Given the description of an element on the screen output the (x, y) to click on. 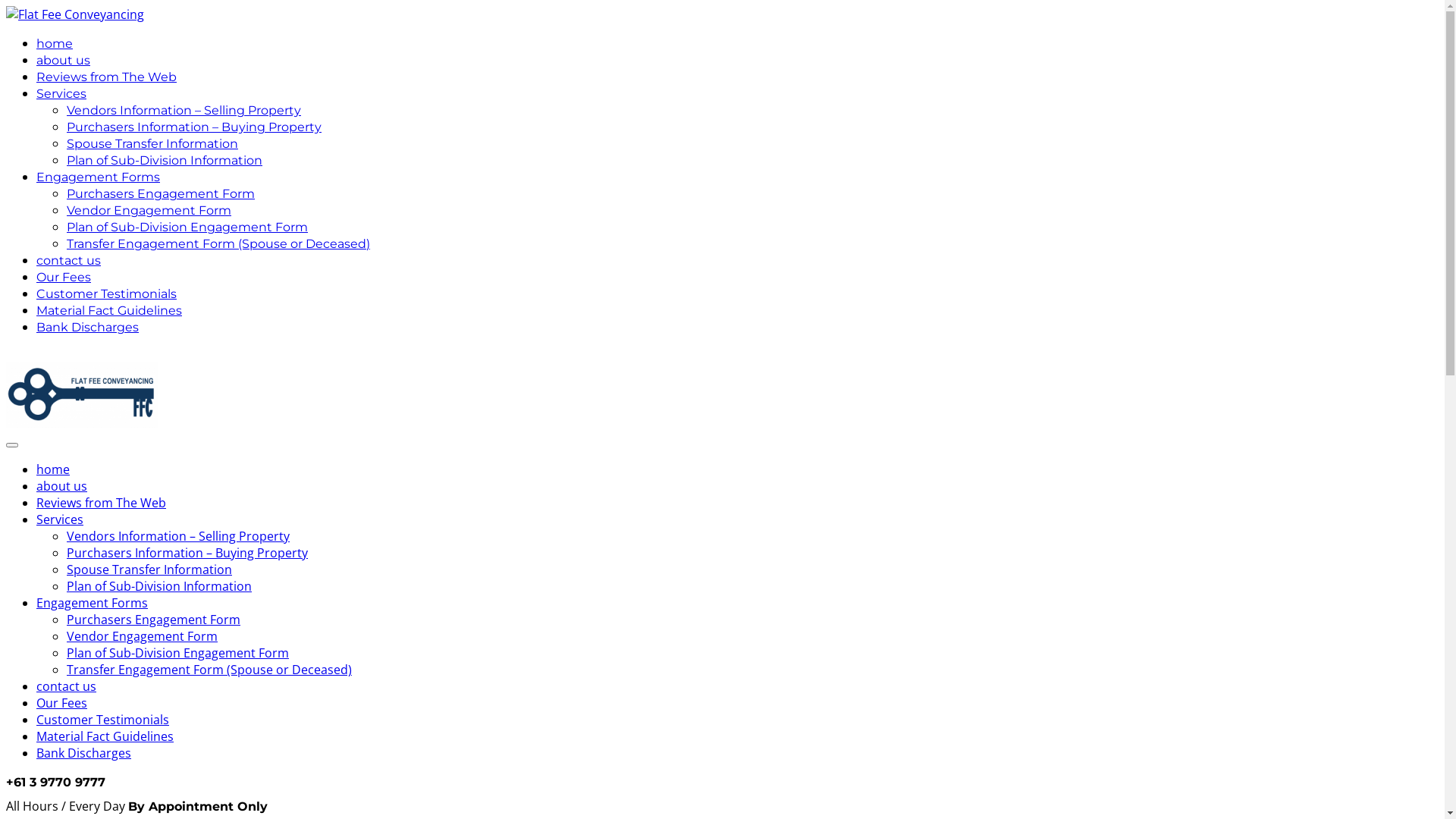
Spouse Transfer Information Element type: text (152, 143)
Services Element type: text (59, 519)
about us Element type: text (61, 485)
Engagement Forms Element type: text (91, 602)
Plan of Sub-Division Engagement Form Element type: text (186, 226)
home Element type: text (54, 43)
Our Fees Element type: text (61, 702)
Bank Discharges Element type: text (83, 752)
Vendor Engagement Form Element type: text (141, 635)
Material Fact Guidelines Element type: text (104, 736)
Reviews from The Web Element type: text (106, 76)
Customer Testimonials Element type: text (102, 719)
Customer Testimonials Element type: text (106, 293)
Purchasers Engagement Form Element type: text (160, 193)
about us Element type: text (63, 60)
Plan of Sub-Division Engagement Form Element type: text (177, 652)
Engagement Forms Element type: text (98, 176)
Spouse Transfer Information Element type: text (149, 569)
Reviews from The Web Element type: text (101, 502)
contact us Element type: text (66, 685)
Purchasers Engagement Form Element type: text (153, 619)
Vendor Engagement Form Element type: text (148, 210)
Services Element type: text (61, 93)
Plan of Sub-Division Information Element type: text (164, 160)
contact us Element type: text (68, 260)
Transfer Engagement Form (Spouse or Deceased) Element type: text (218, 243)
home Element type: text (52, 469)
Material Fact Guidelines Element type: text (109, 310)
Bank Discharges Element type: text (87, 327)
Transfer Engagement Form (Spouse or Deceased) Element type: text (208, 669)
Plan of Sub-Division Information Element type: text (158, 585)
Our Fees Element type: text (63, 276)
